Given the description of an element on the screen output the (x, y) to click on. 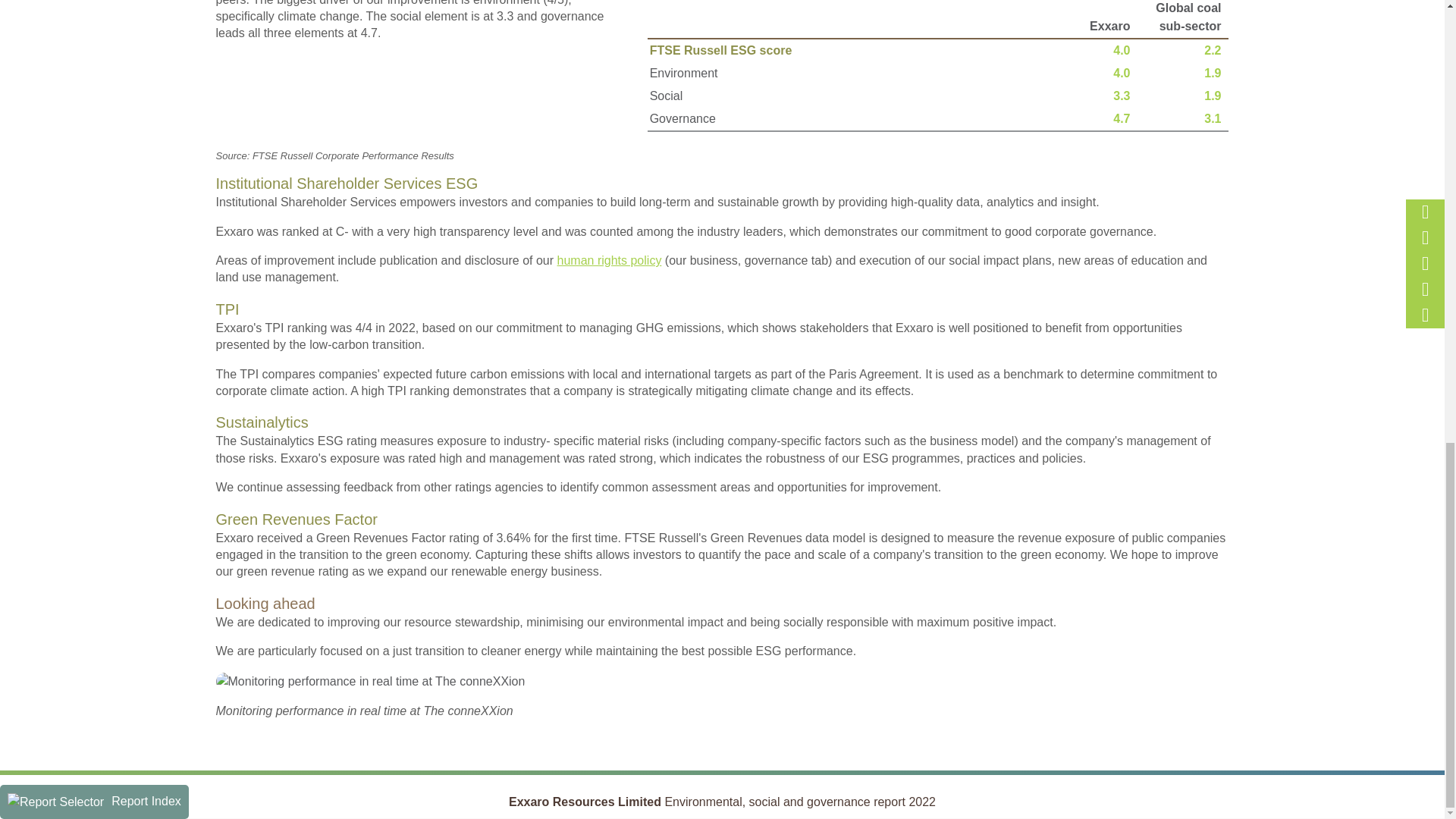
Our-strategic-evolution.pdf (220, 40)
waste-management.pdf (220, 297)
on (521, 187)
stakeholder-management.pdf (220, 149)
biodiversity.pdf (220, 316)
environmental-liabilities-and-rehabilitation.pdf (220, 334)
Environment.pdf (220, 206)
Transitioning-into-a-low-carbon-business.pdf (220, 94)
water-security-management.pdf (220, 279)
measuring-our-performance.pdf (220, 113)
air-quality.pdf (220, 225)
about-exxaro.pdf (220, 58)
climate-change-resilience.pdf (220, 243)
About-this-report.pdf (220, 21)
Our-ESG-perspective.pdf (220, 76)
